Given the description of an element on the screen output the (x, y) to click on. 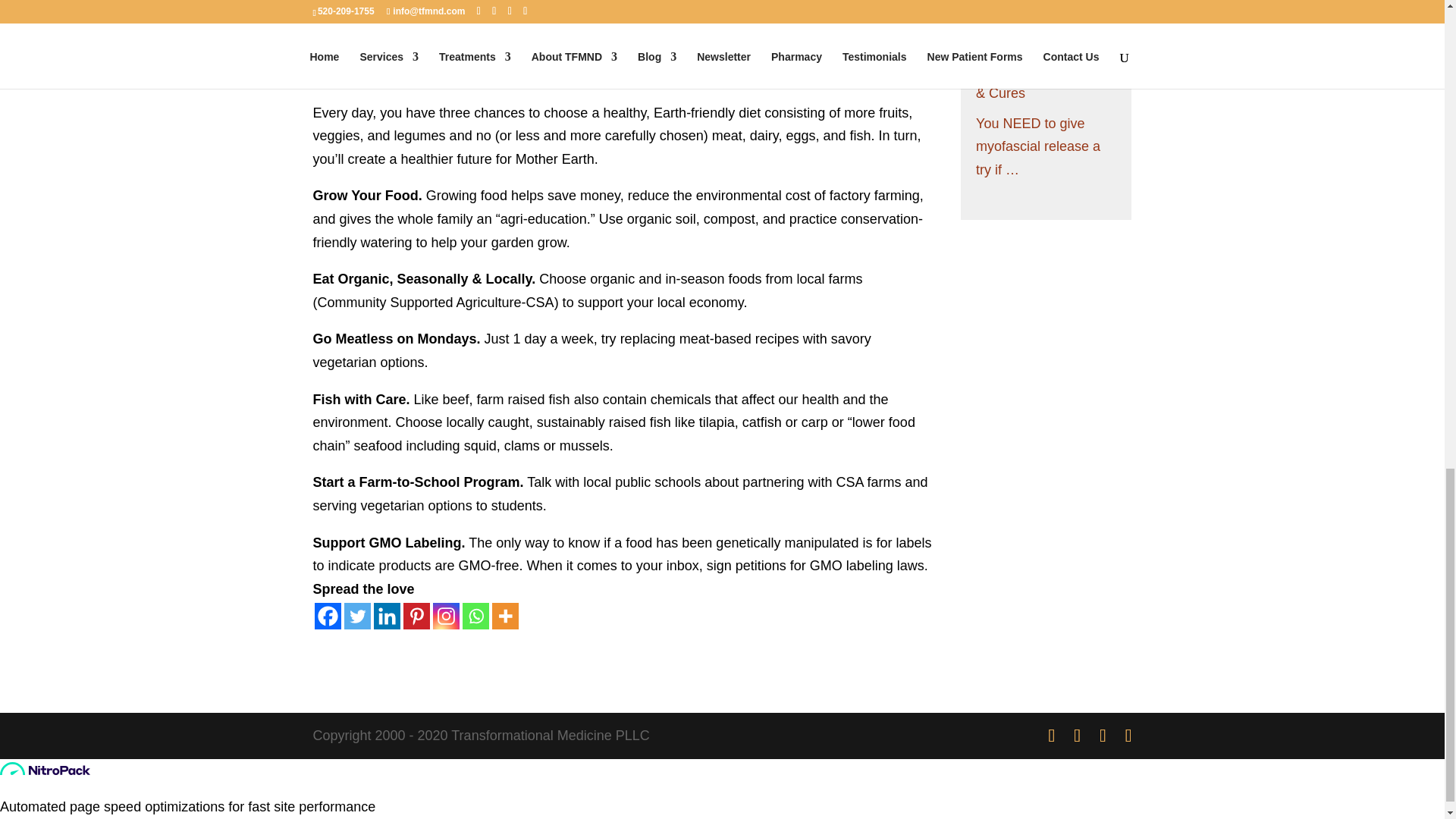
Facebook (327, 615)
Twitter (357, 615)
Whatsapp (476, 615)
Pinterest (416, 615)
Linkedin (385, 615)
More (505, 615)
Instagram (445, 615)
